Given the description of an element on the screen output the (x, y) to click on. 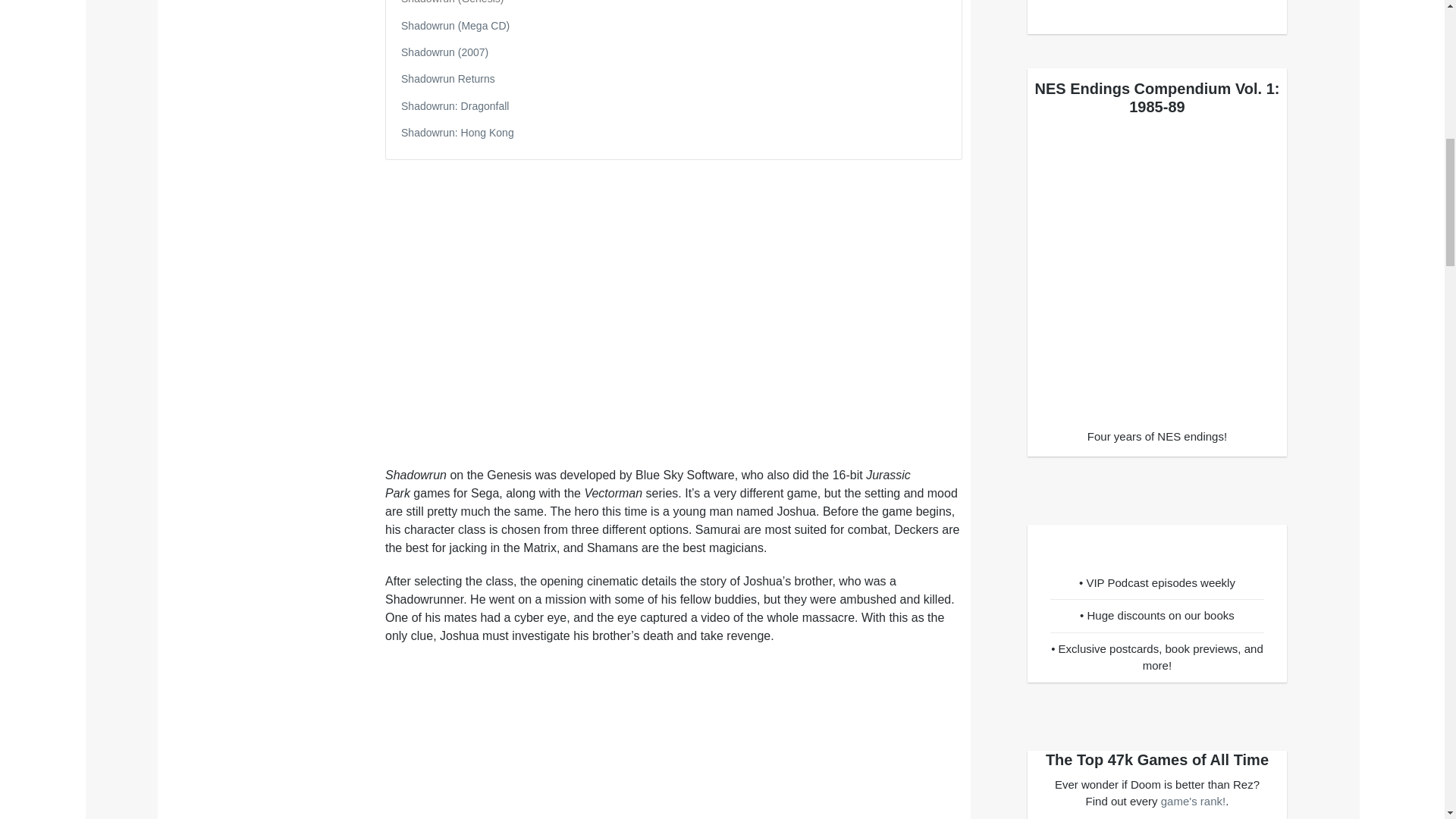
Shadowrun: Hong Kong (457, 132)
Shadowrun: Hong Kong (457, 132)
Shadowrun: Dragonfall (454, 105)
Shadowrun Returns (448, 78)
Shadowrun: Dragonfall (454, 105)
Shadowrun Returns (448, 78)
